Given the description of an element on the screen output the (x, y) to click on. 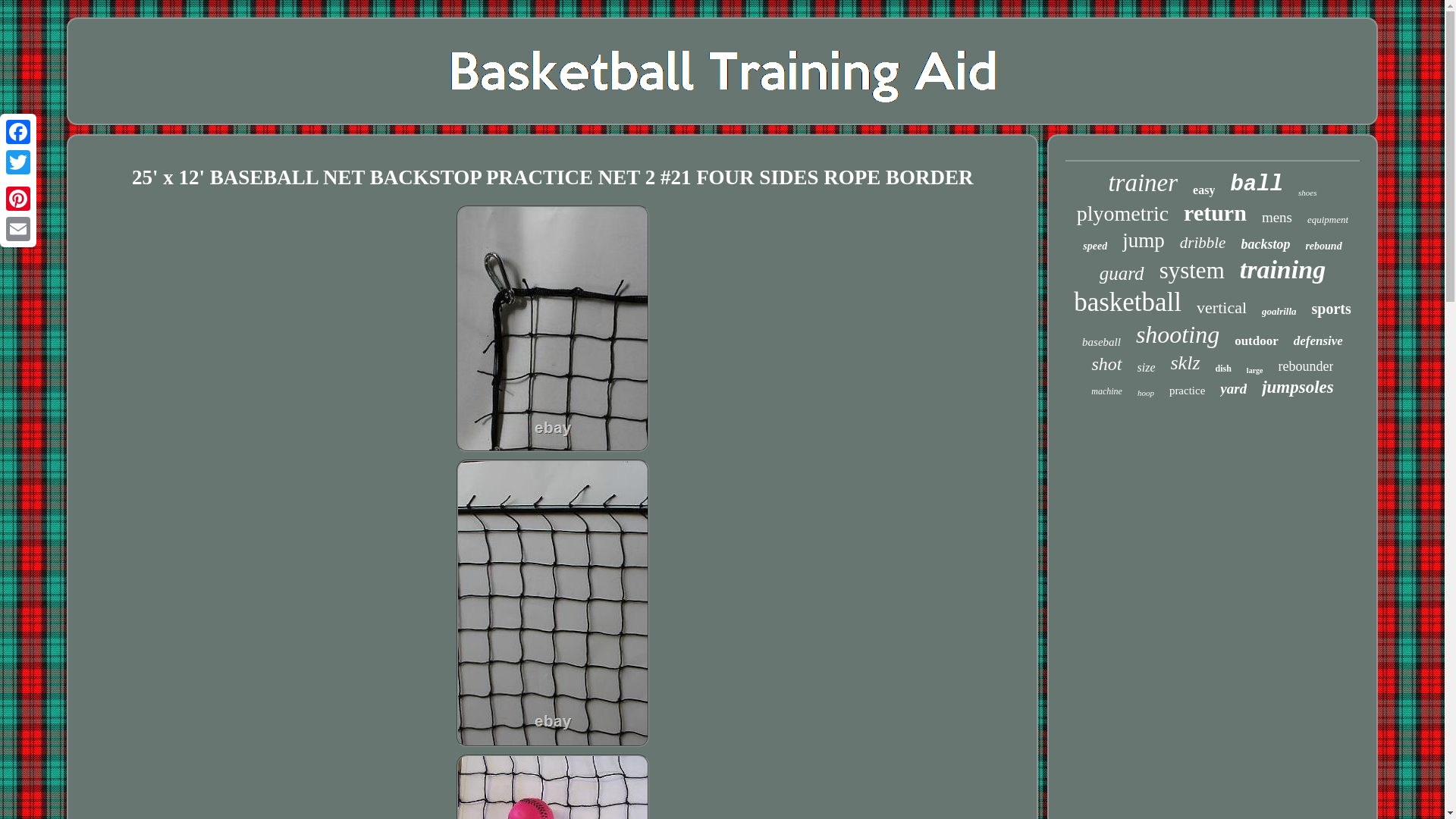
Facebook (17, 132)
Pinterest (17, 198)
shooting (1177, 334)
sports (1331, 308)
shoes (1307, 192)
shot (1105, 363)
plyometric (1123, 213)
guard (1121, 273)
system (1191, 270)
trainer (1142, 182)
